Given the description of an element on the screen output the (x, y) to click on. 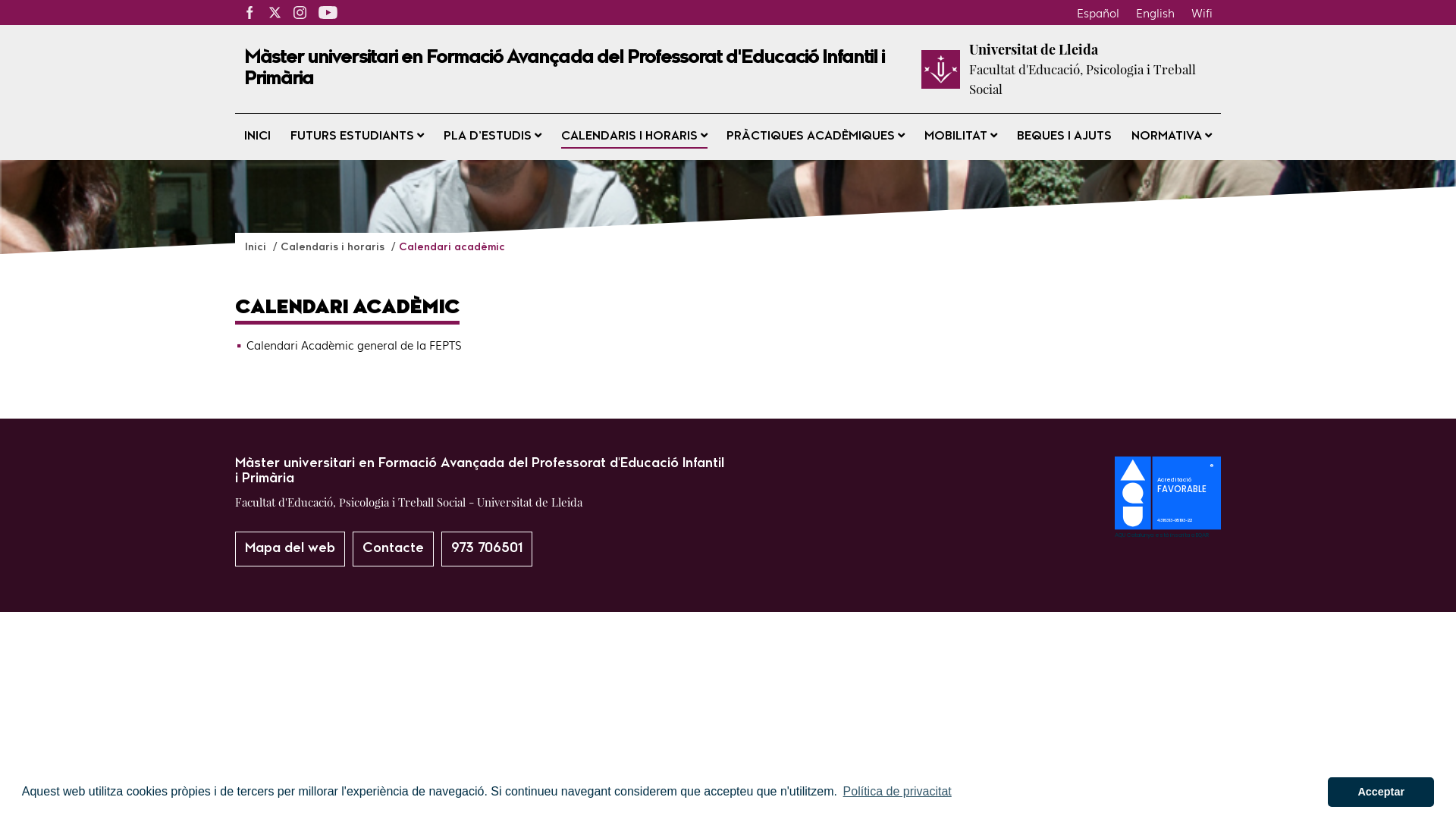
Inici Element type: text (256, 247)
Mapa del web Element type: text (290, 548)
FUTURS ESTUDIANTS Element type: text (357, 136)
INICI Element type: text (257, 136)
MOBILITAT Element type: text (960, 136)
Contacte Element type: text (392, 548)
SegellAcreditacio_MFAPEIPrimaria_ca Element type: hover (1167, 533)
Wifi Element type: text (1201, 12)
NORMATIVA Element type: text (1171, 136)
English Element type: text (1155, 12)
Calendaris i horaris Element type: text (333, 247)
Acceptar Element type: text (1380, 791)
973 706501 Element type: text (486, 548)
BEQUES I AJUTS Element type: text (1063, 136)
CALENDARIS I HORARIS Element type: text (634, 136)
